Given the description of an element on the screen output the (x, y) to click on. 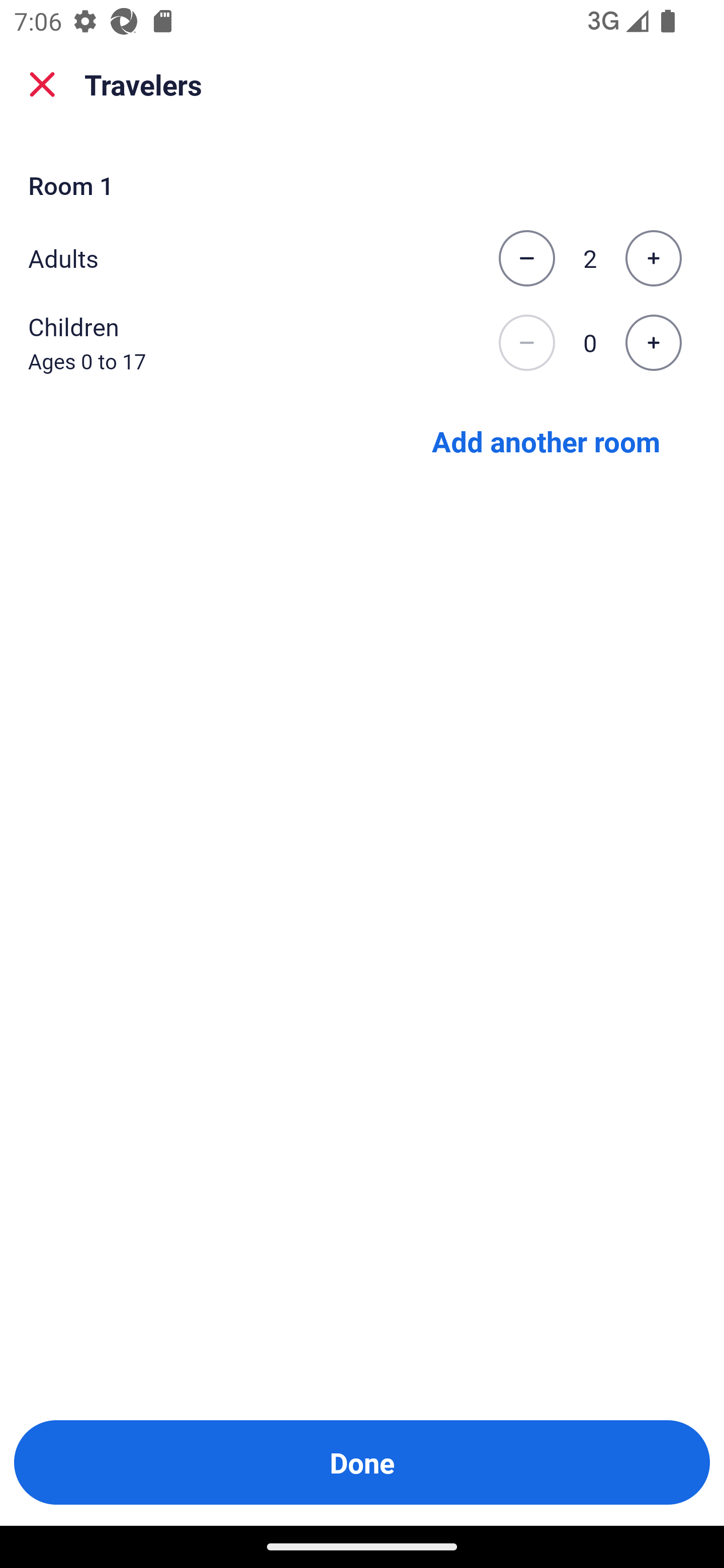
close (42, 84)
Decrease the number of adults (526, 258)
Increase the number of adults (653, 258)
Decrease the number of children (526, 343)
Increase the number of children (653, 343)
Add another room (545, 440)
Done (361, 1462)
